Given the description of an element on the screen output the (x, y) to click on. 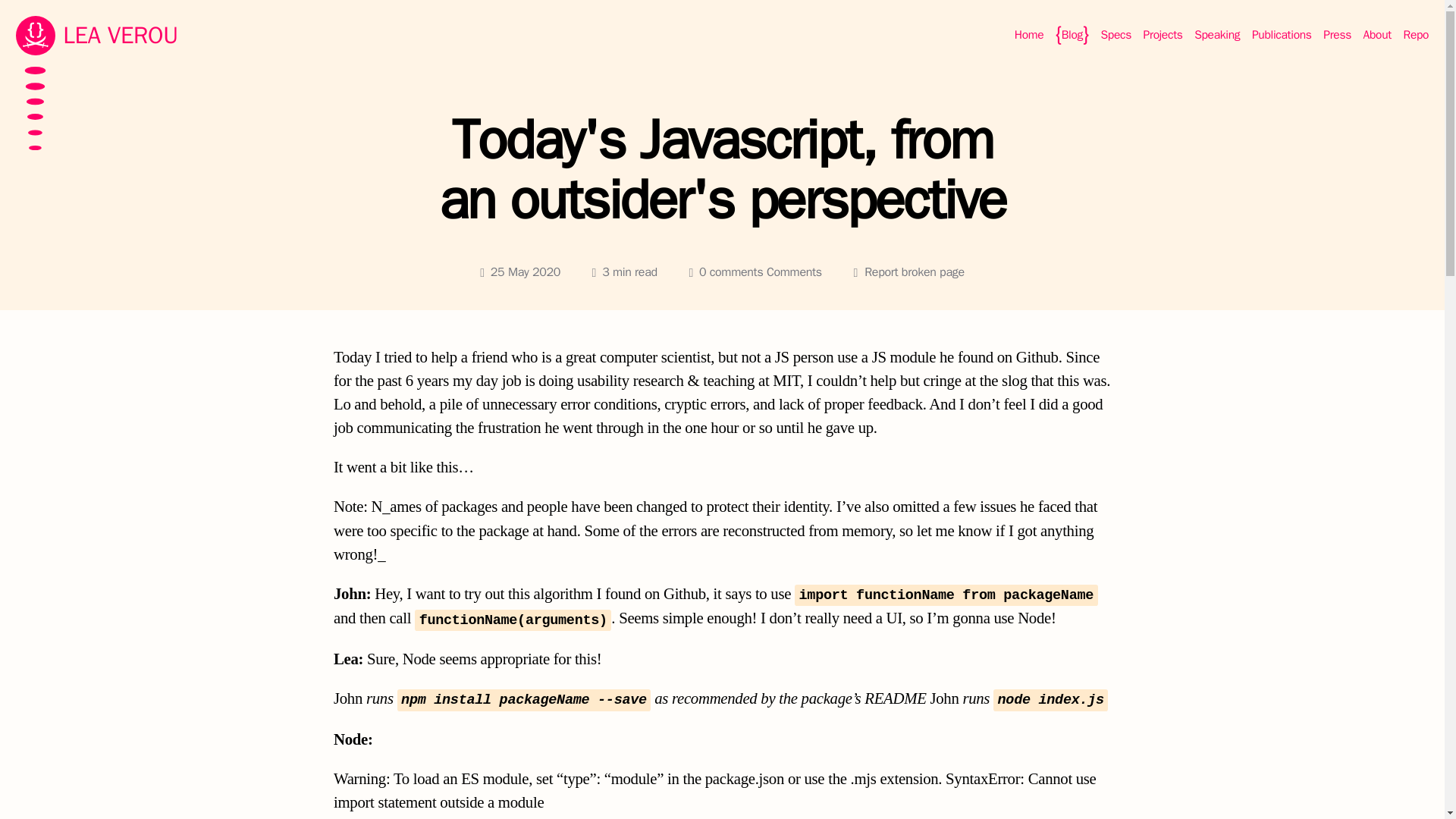
Speaking (1216, 35)
Report broken page (913, 272)
Blog (1072, 35)
LEA VEROU (77, 35)
About (1376, 35)
733 words (625, 272)
Publications (1281, 35)
Specs (1115, 35)
Repo (1416, 35)
Home (1028, 35)
